Given the description of an element on the screen output the (x, y) to click on. 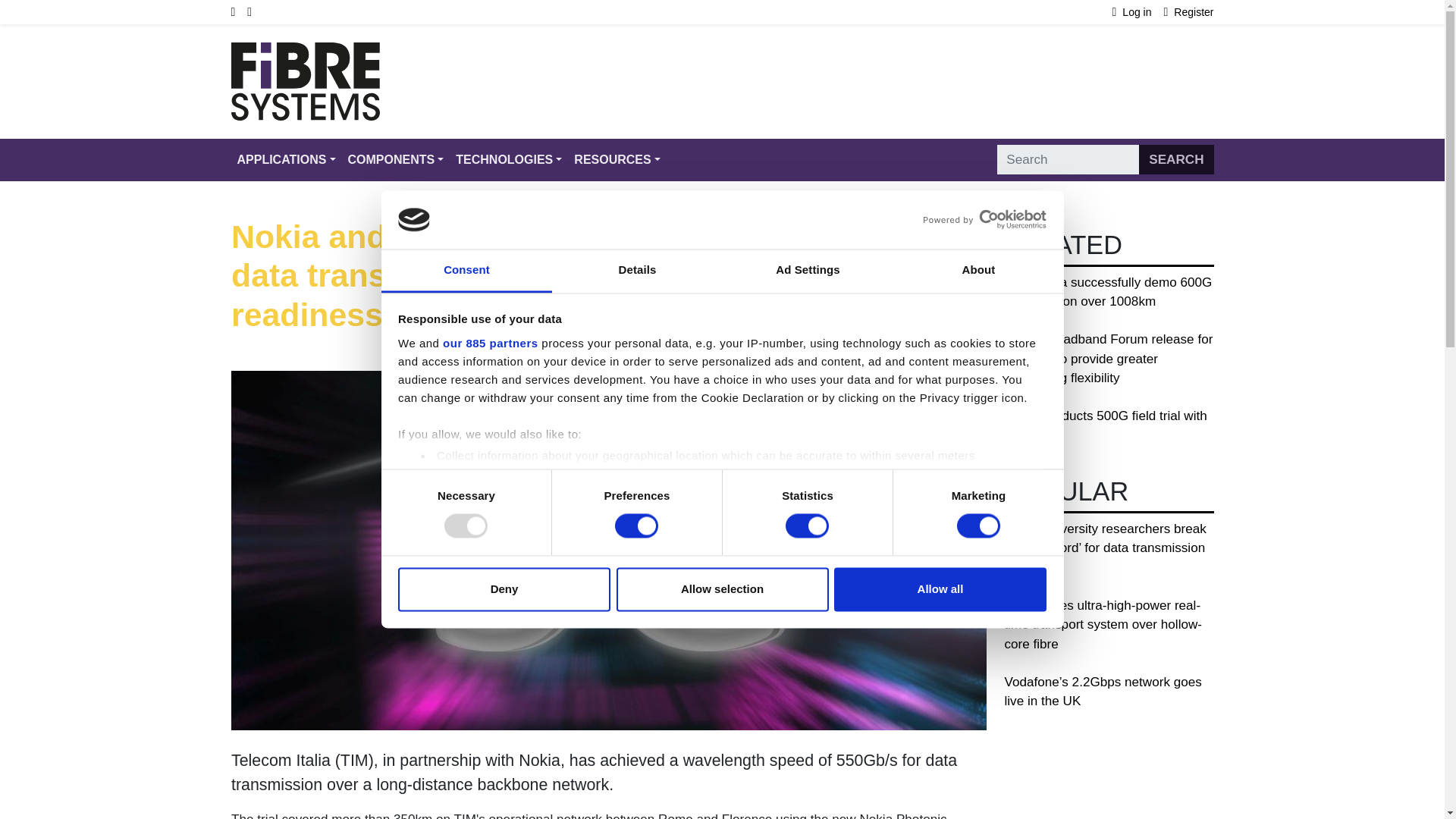
our 885 partners (490, 342)
details section (927, 494)
Ad Settings (807, 270)
About (978, 270)
Consent (465, 270)
Details (636, 270)
